Given the description of an element on the screen output the (x, y) to click on. 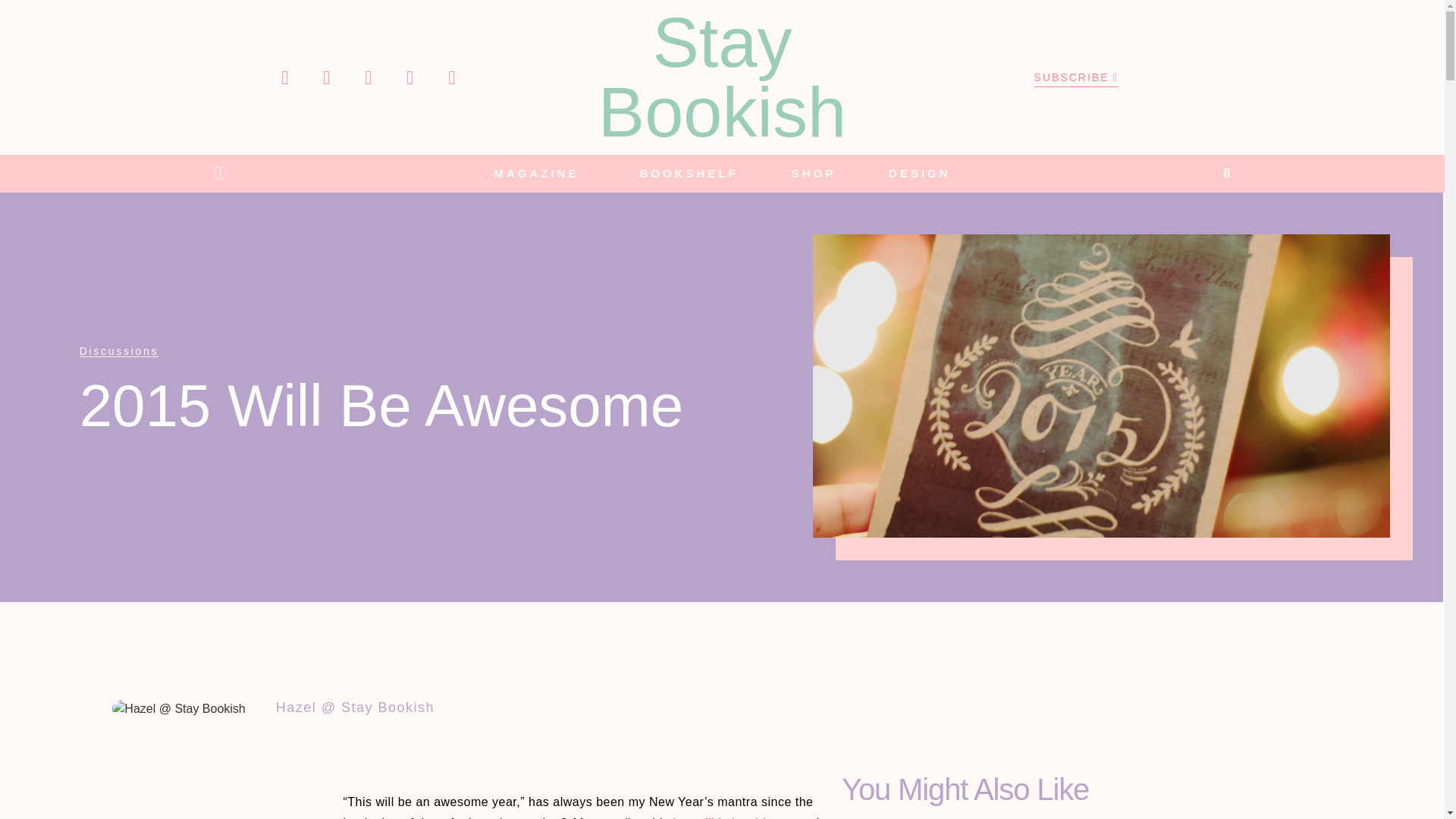
SUBSCRIBE (1075, 77)
Stay Bookish (721, 77)
SHOP (813, 173)
DESIGN (920, 173)
MAGAZINE (539, 173)
BOOKSHELF (687, 173)
incredibly inspiring post (740, 817)
Discussions (119, 351)
